Given the description of an element on the screen output the (x, y) to click on. 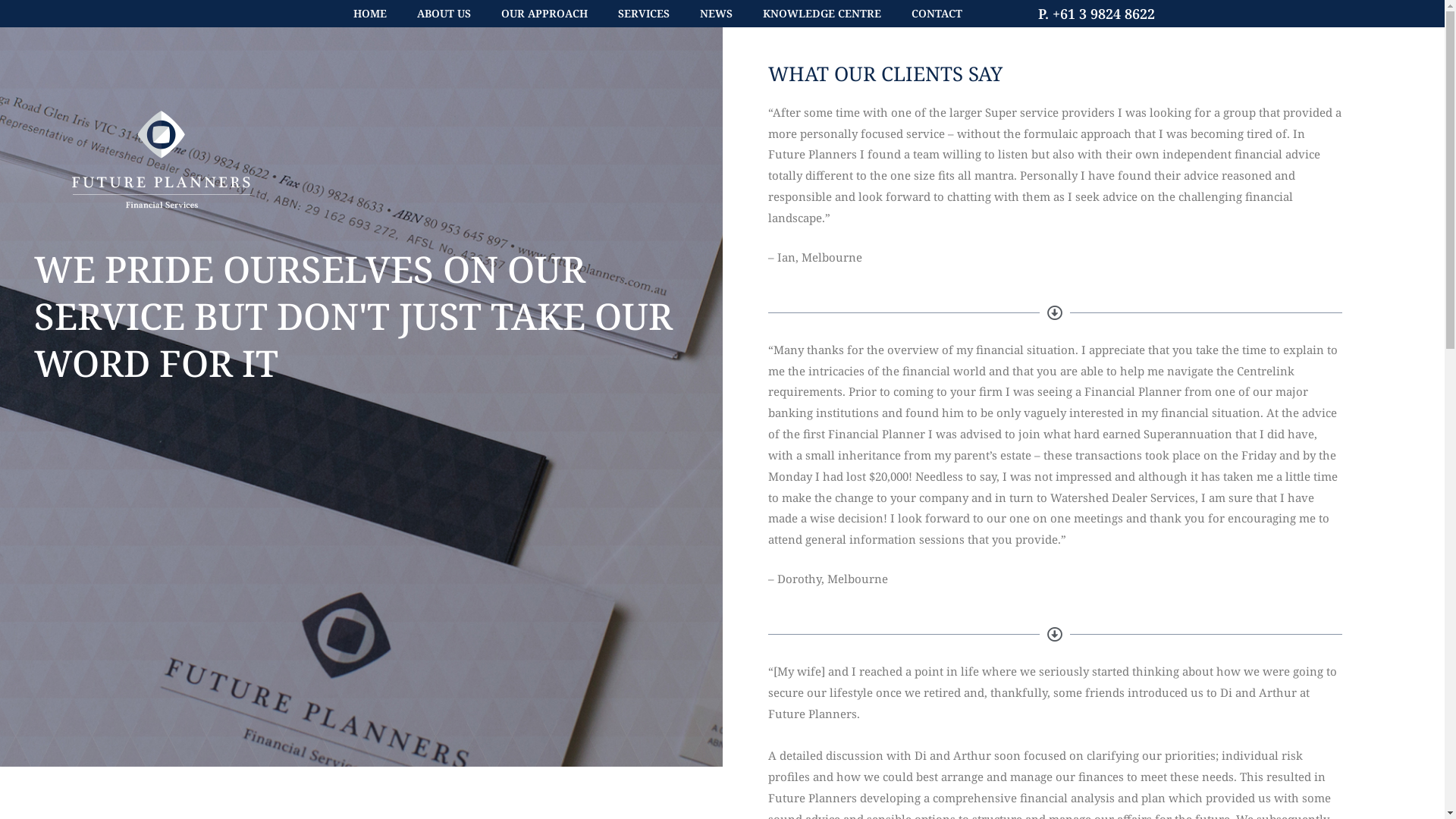
ABOUT US Element type: text (443, 13)
OUR APPROACH Element type: text (543, 13)
NEWS Element type: text (715, 13)
SERVICES Element type: text (643, 13)
CONTACT Element type: text (936, 13)
KNOWLEDGE CENTRE Element type: text (821, 13)
HOME Element type: text (369, 13)
